Given the description of an element on the screen output the (x, y) to click on. 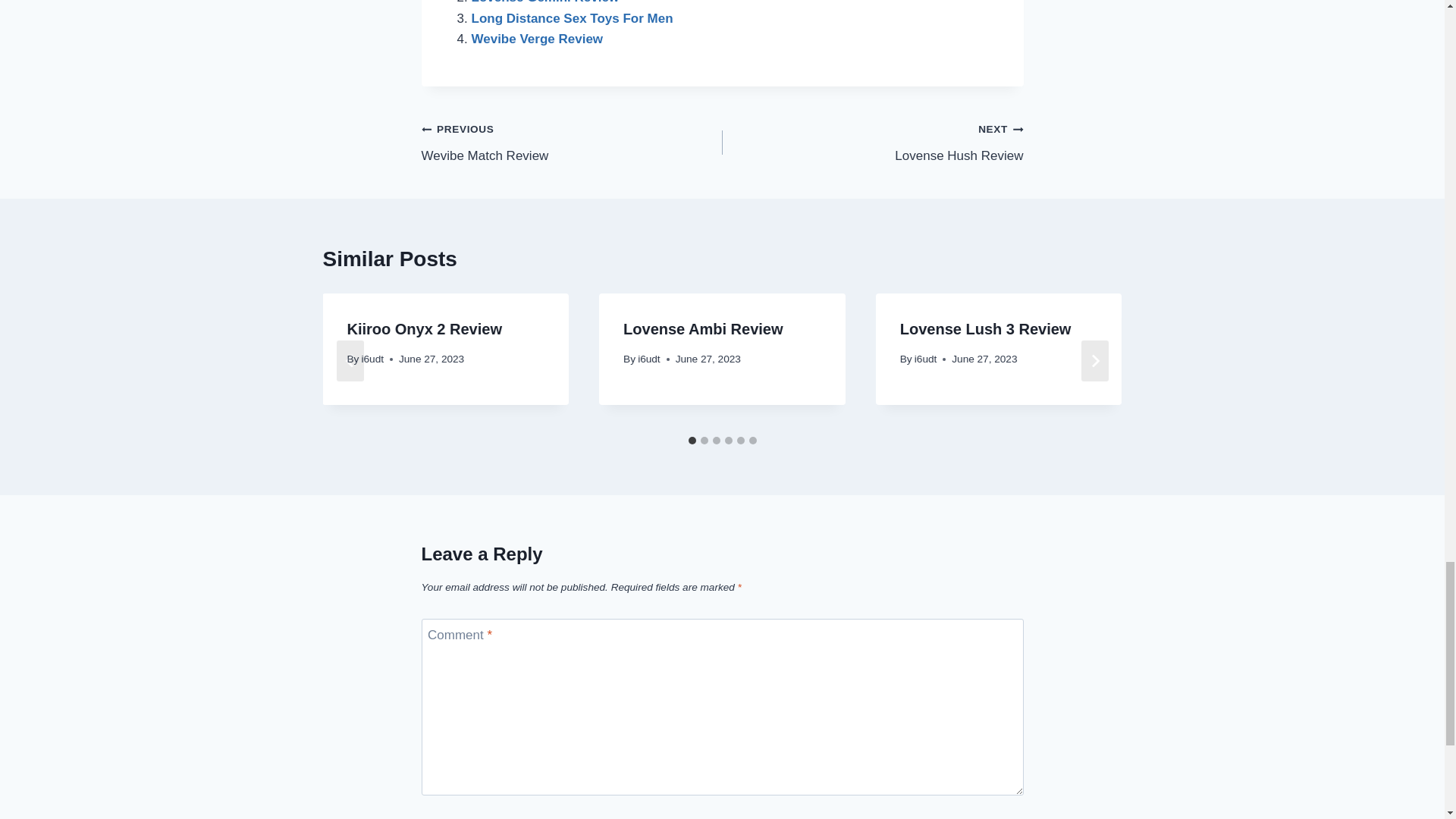
Wevibe Verge Review (537, 38)
Long Distance Sex Toys For Men (872, 141)
Lovense Gemini Review (572, 141)
Long Distance Sex Toys For Men (571, 18)
Lovense Gemini Review (545, 2)
Wevibe Verge Review (571, 18)
